Given the description of an element on the screen output the (x, y) to click on. 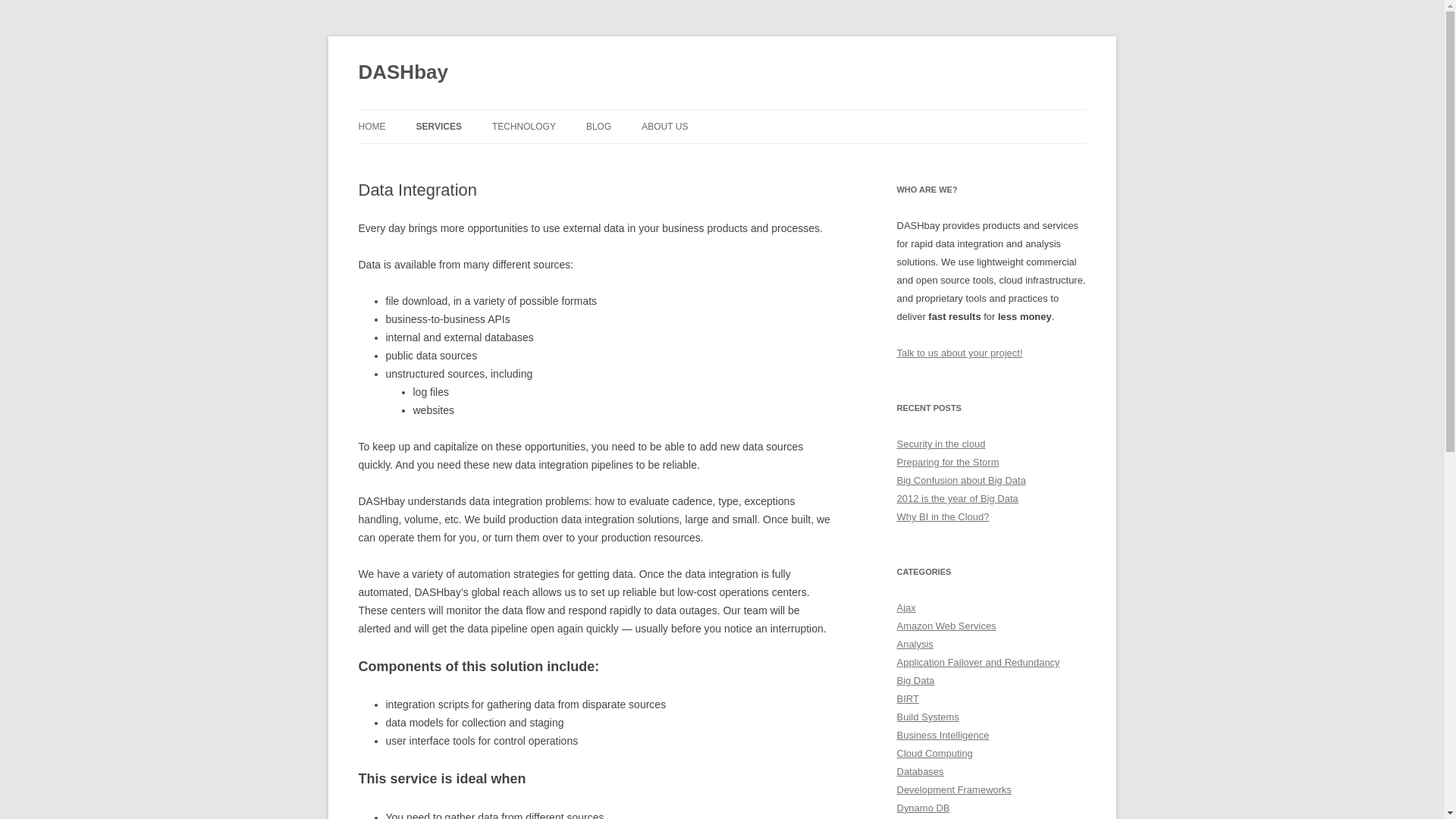
ABOUT US (664, 126)
Application Failover and Redundancy (977, 662)
Business Intelligence (942, 735)
Big Data (915, 680)
TECHNOLOGY (524, 126)
Security in the cloud (940, 443)
2012 is the year of Big Data (956, 498)
Why BI in the Cloud? (942, 516)
Dynamo DB (922, 808)
DASHbay (402, 72)
